Given the description of an element on the screen output the (x, y) to click on. 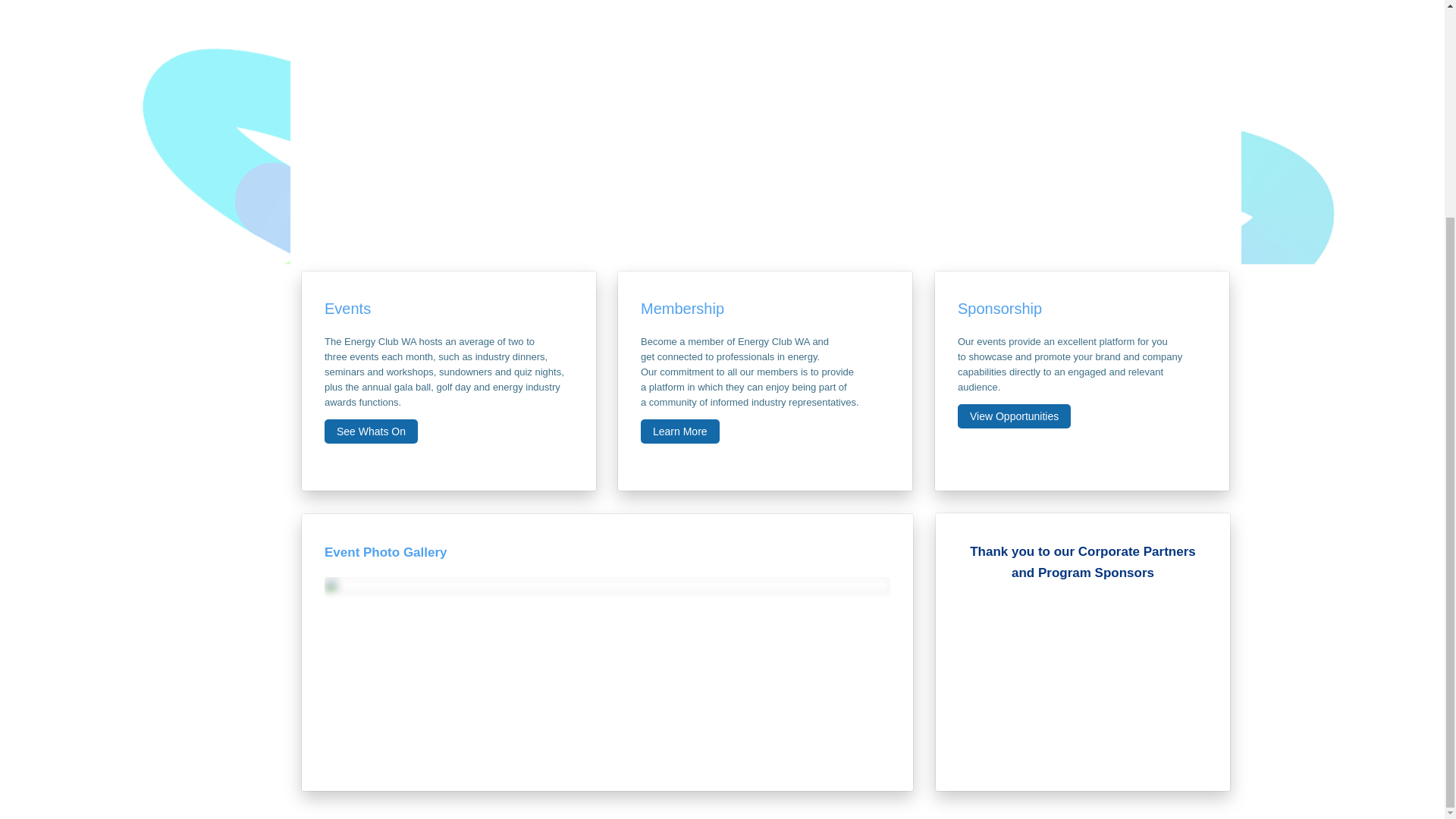
Learn More (679, 431)
See Whats On (370, 431)
View Opportunities (1014, 416)
